Given the description of an element on the screen output the (x, y) to click on. 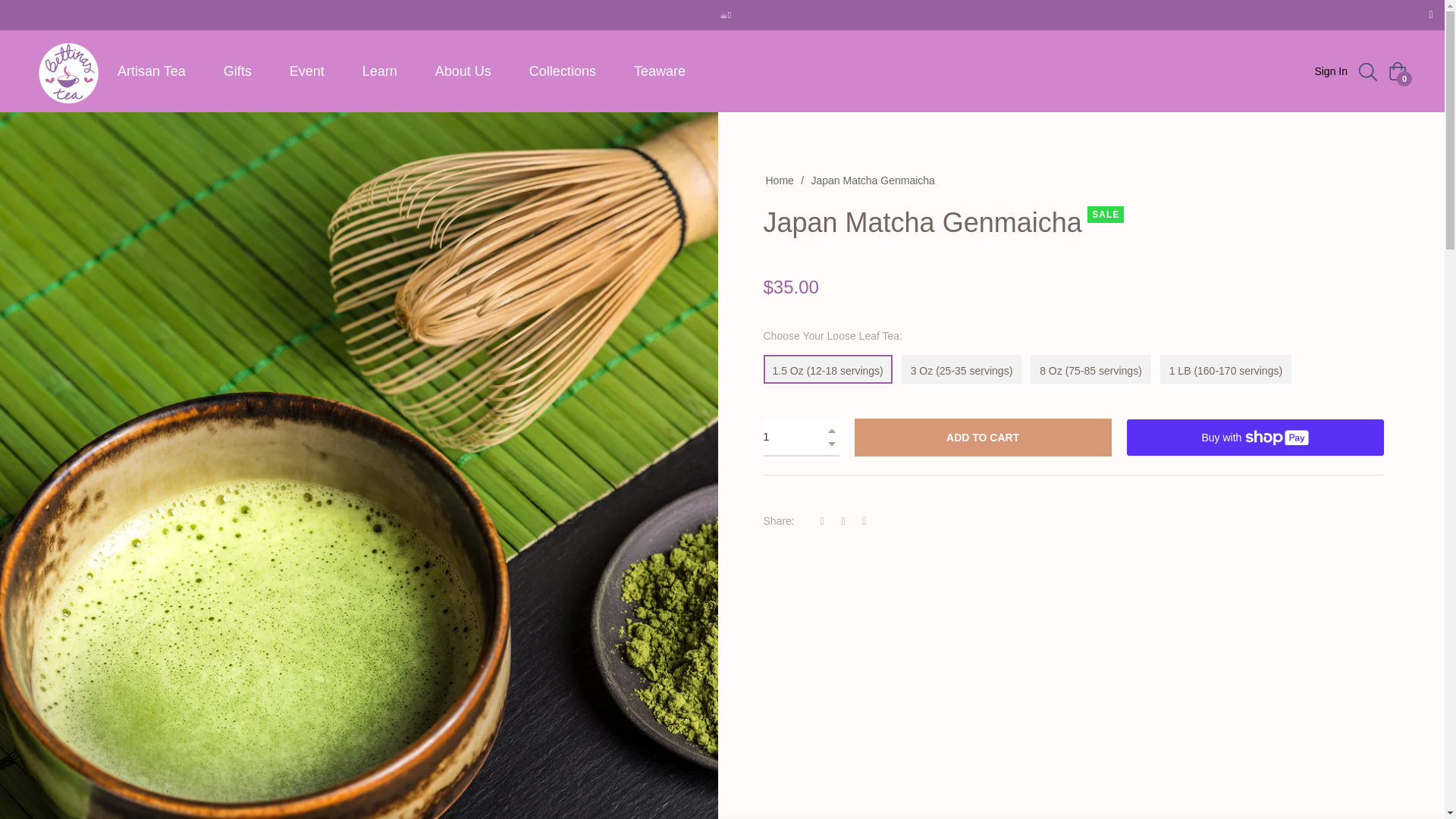
About Us (463, 71)
Collections (562, 71)
Artisan Tea (152, 71)
Home (778, 180)
Sign In (1330, 70)
Shopping Cart (1397, 71)
Learn (379, 71)
1 (800, 437)
Teaware (659, 71)
Event (306, 71)
